Given the description of an element on the screen output the (x, y) to click on. 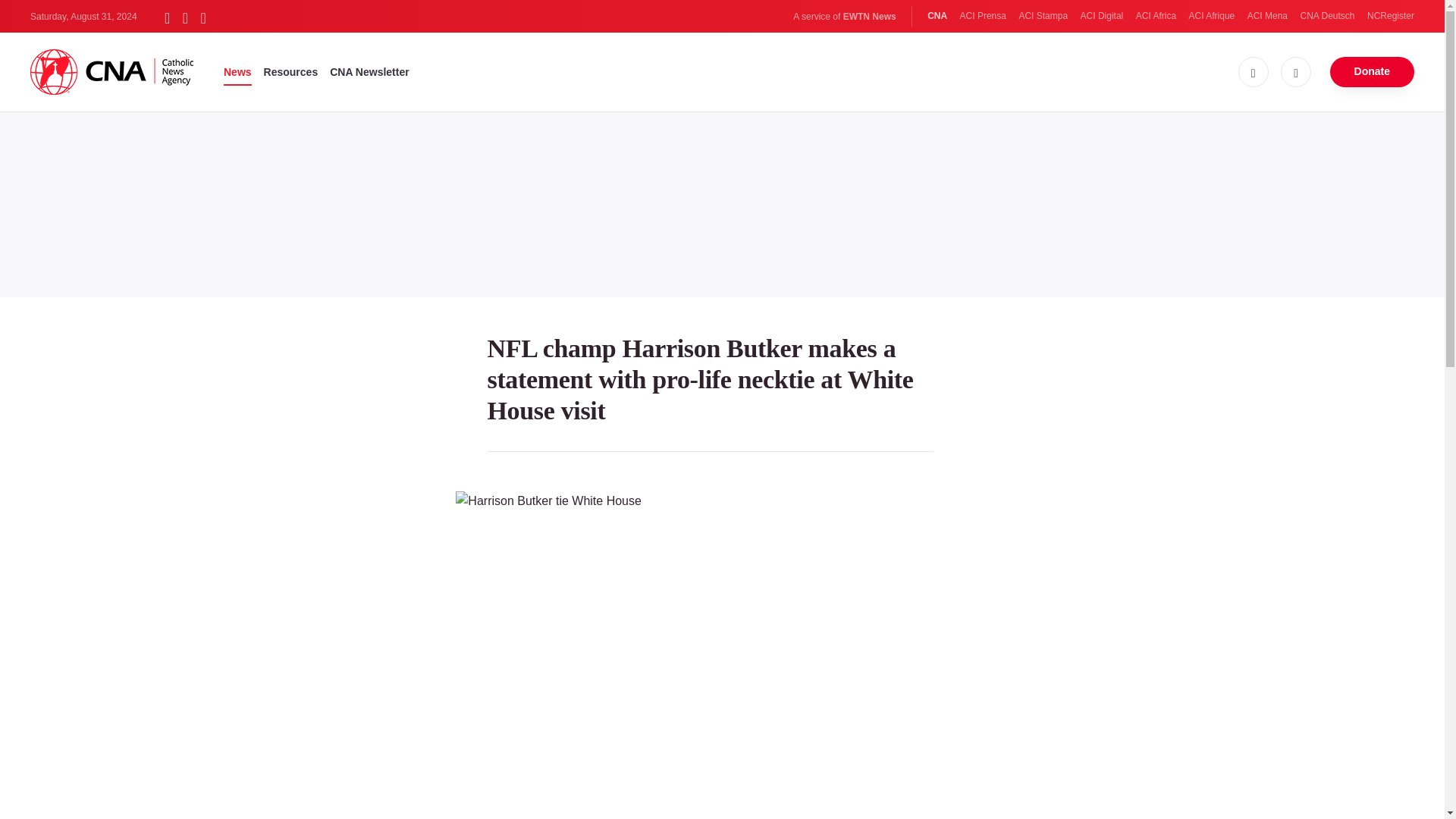
ACI Afrique (1211, 16)
CNA (937, 16)
EWTN News (869, 16)
CNA Deutsch (1327, 16)
ACI Mena (1267, 16)
EWTN News (869, 16)
ACI Stampa (1042, 16)
NCRegister (1390, 16)
ACI Prensa (982, 16)
Resources (290, 71)
